Given the description of an element on the screen output the (x, y) to click on. 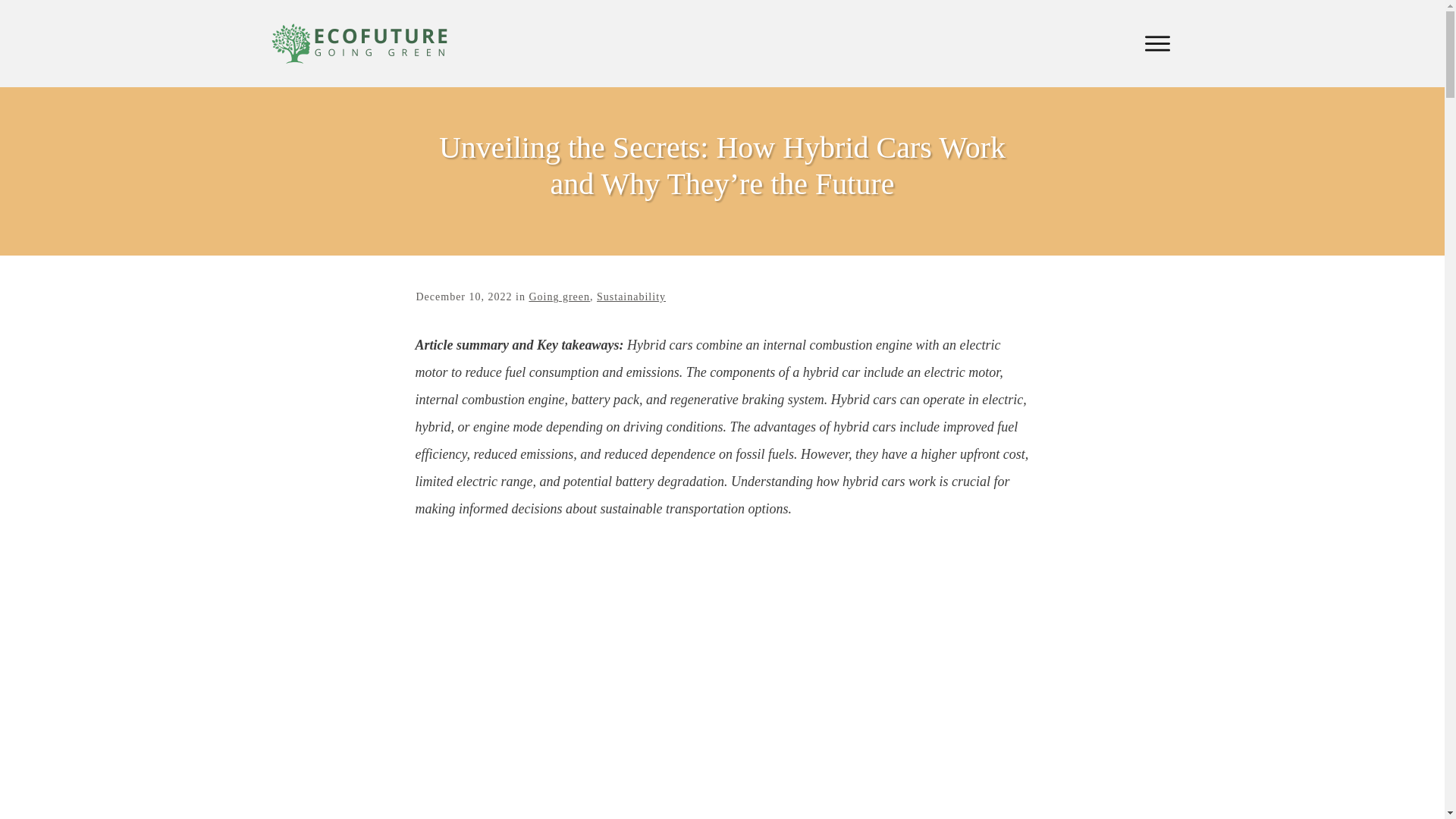
Sustainability (630, 296)
Going green (558, 296)
Going green (558, 296)
Sustainability (630, 296)
